Given the description of an element on the screen output the (x, y) to click on. 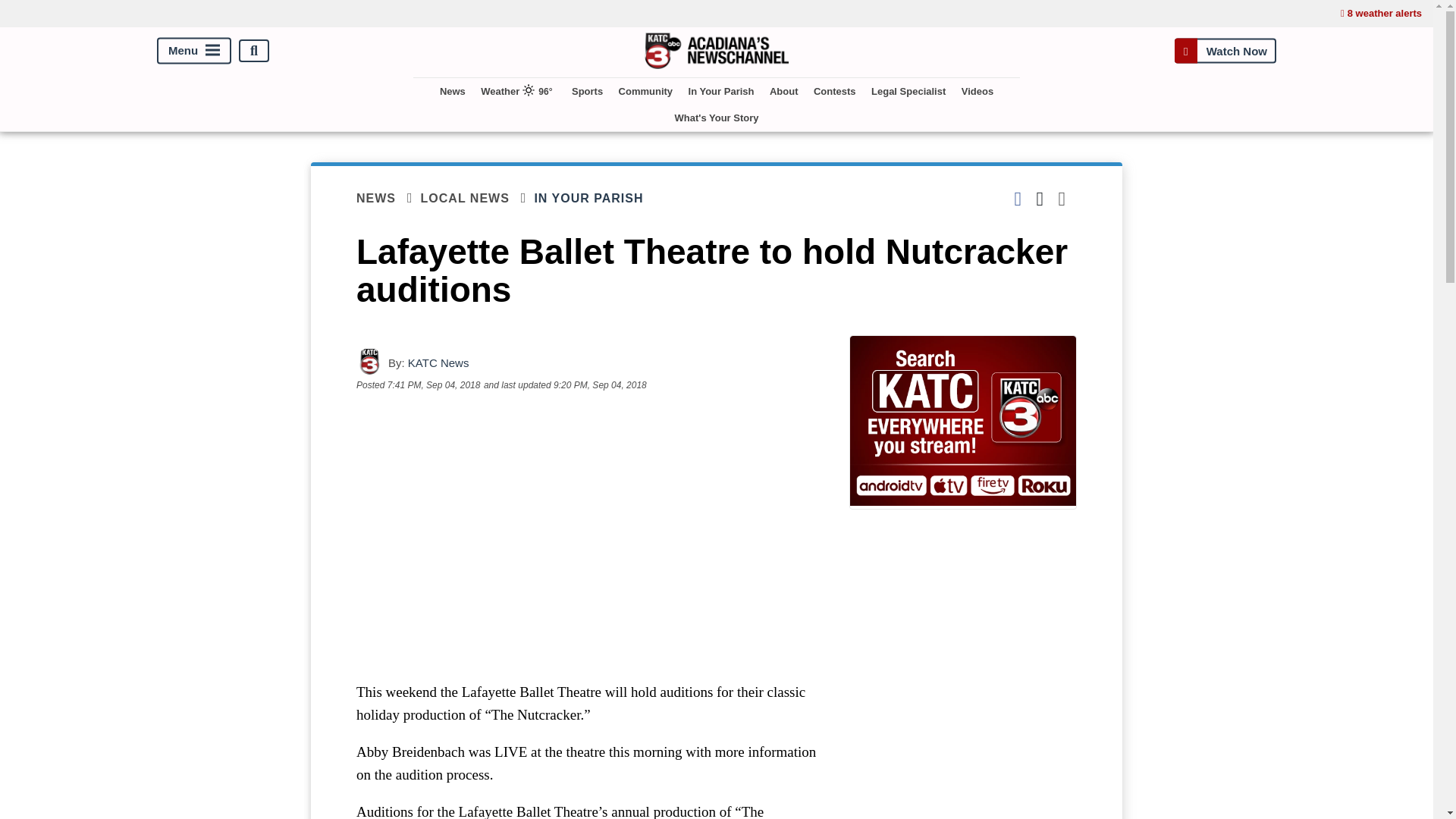
YouTube player (587, 535)
Watch Now (1224, 51)
Menu (194, 50)
